Given the description of an element on the screen output the (x, y) to click on. 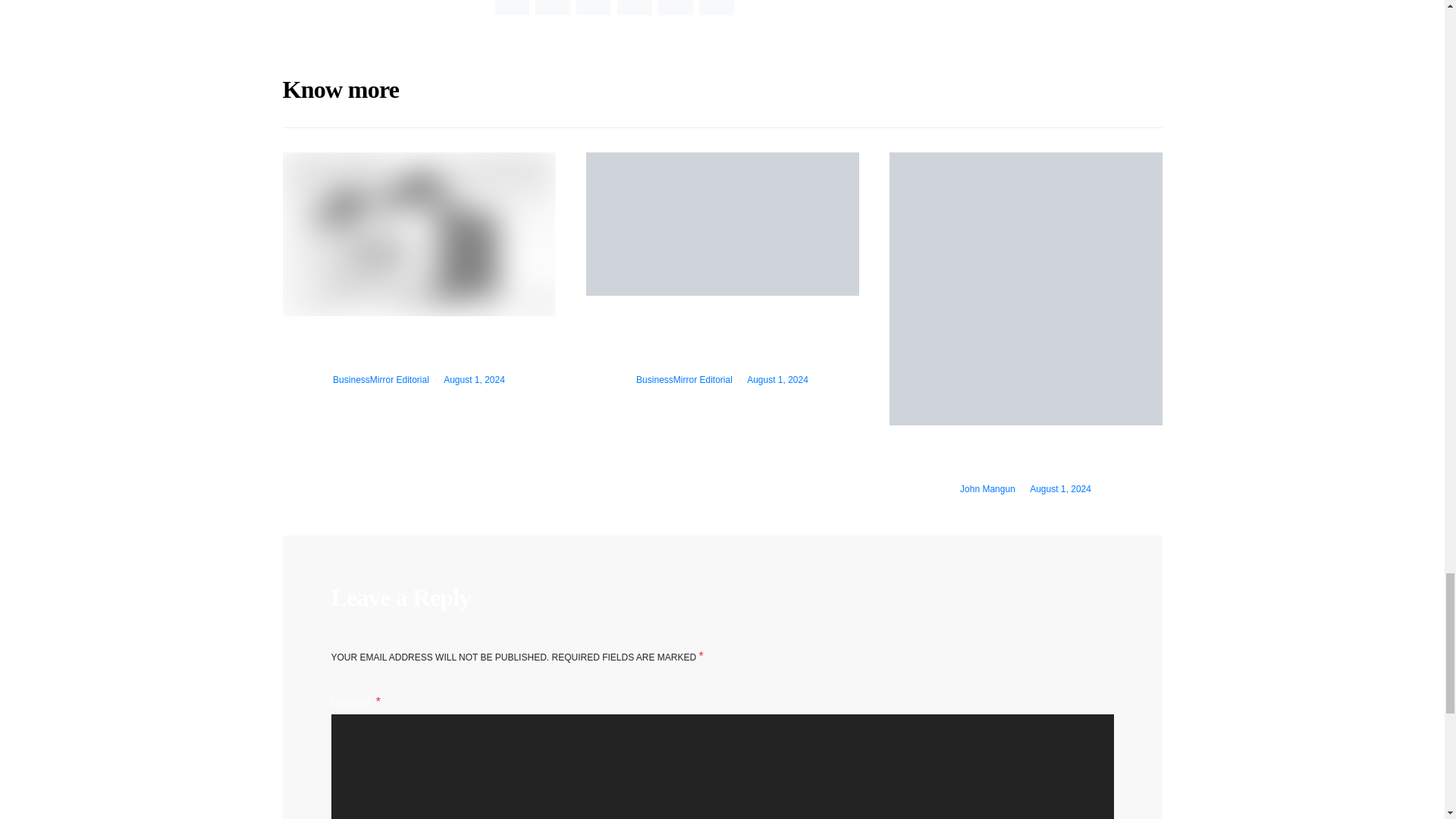
View all posts by BusinessMirror Editorial (381, 379)
View all posts by BusinessMirror Editorial (684, 379)
View all posts by John Mangun (986, 489)
